Given the description of an element on the screen output the (x, y) to click on. 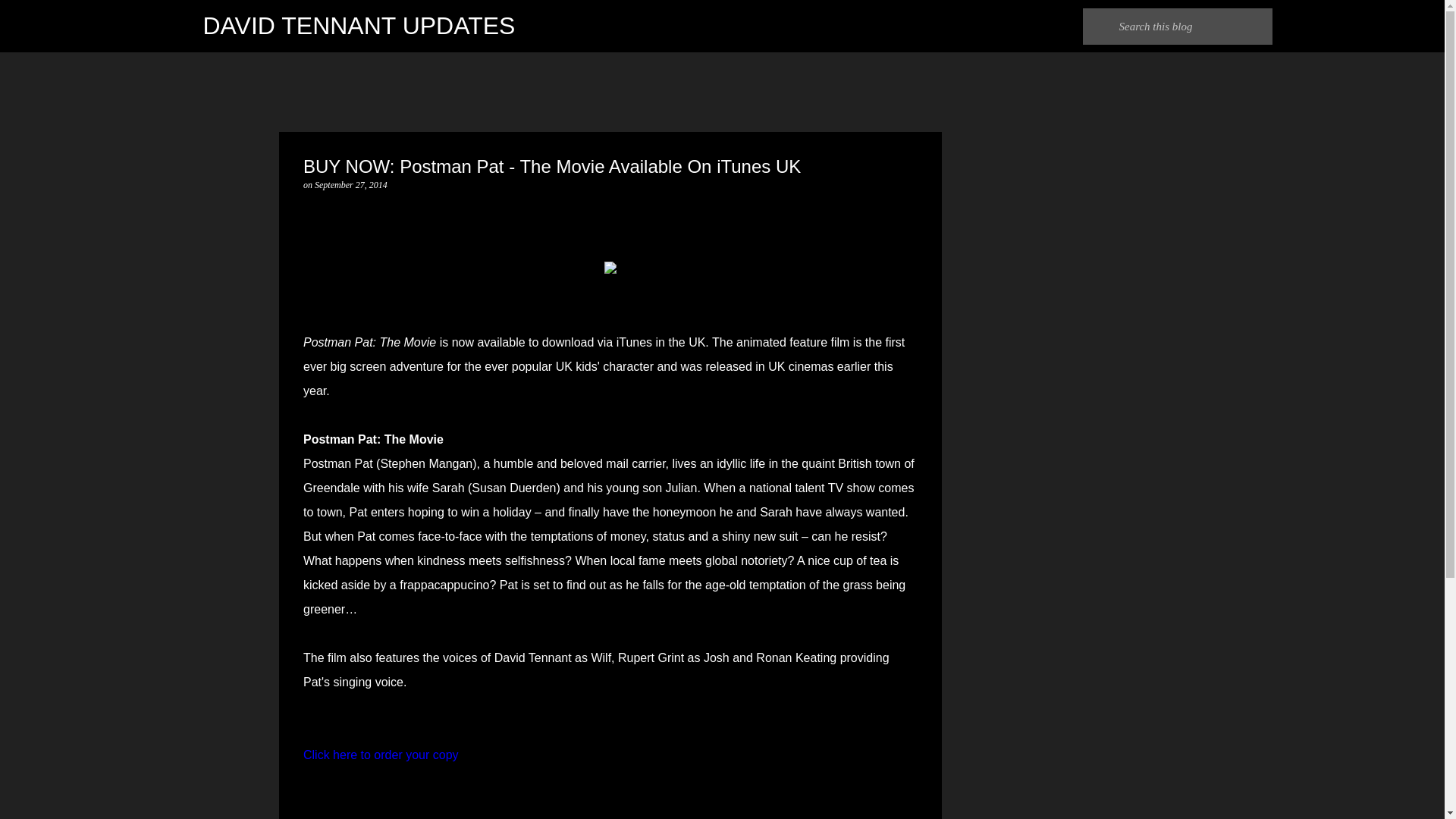
September 27, 2014 (350, 184)
Click here to order your copy (380, 754)
DAVID TENNANT UPDATES (359, 25)
permanent link (350, 184)
